Given the description of an element on the screen output the (x, y) to click on. 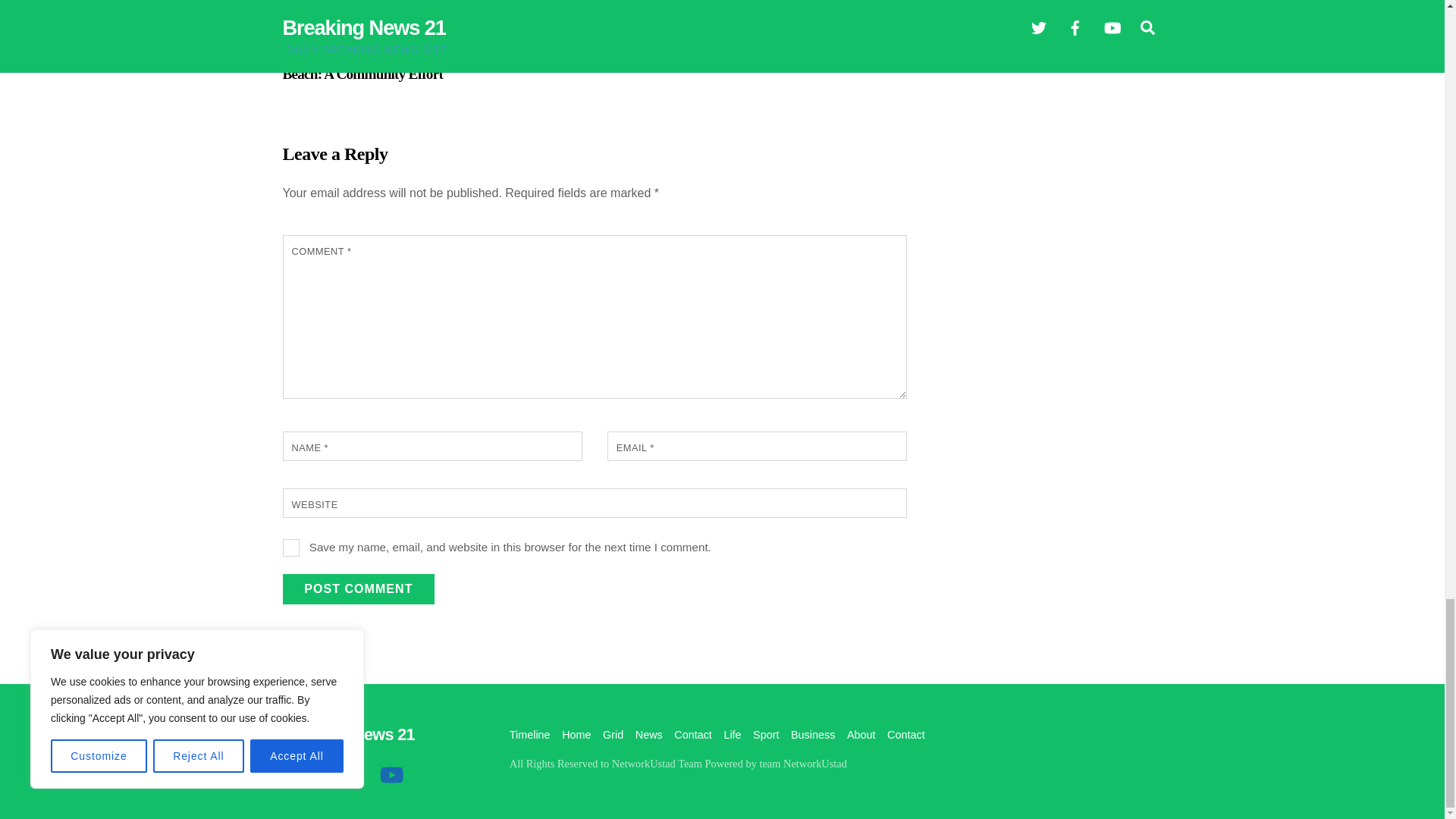
Breaking News 21 (347, 733)
Preserving Historic Homes in Long Beach: A Community Effort (381, 11)
Post Comment (357, 589)
Preserving Historic Homes in Long Beach: A Community Effort (381, 65)
yes (290, 547)
Post Comment (357, 589)
